Given the description of an element on the screen output the (x, y) to click on. 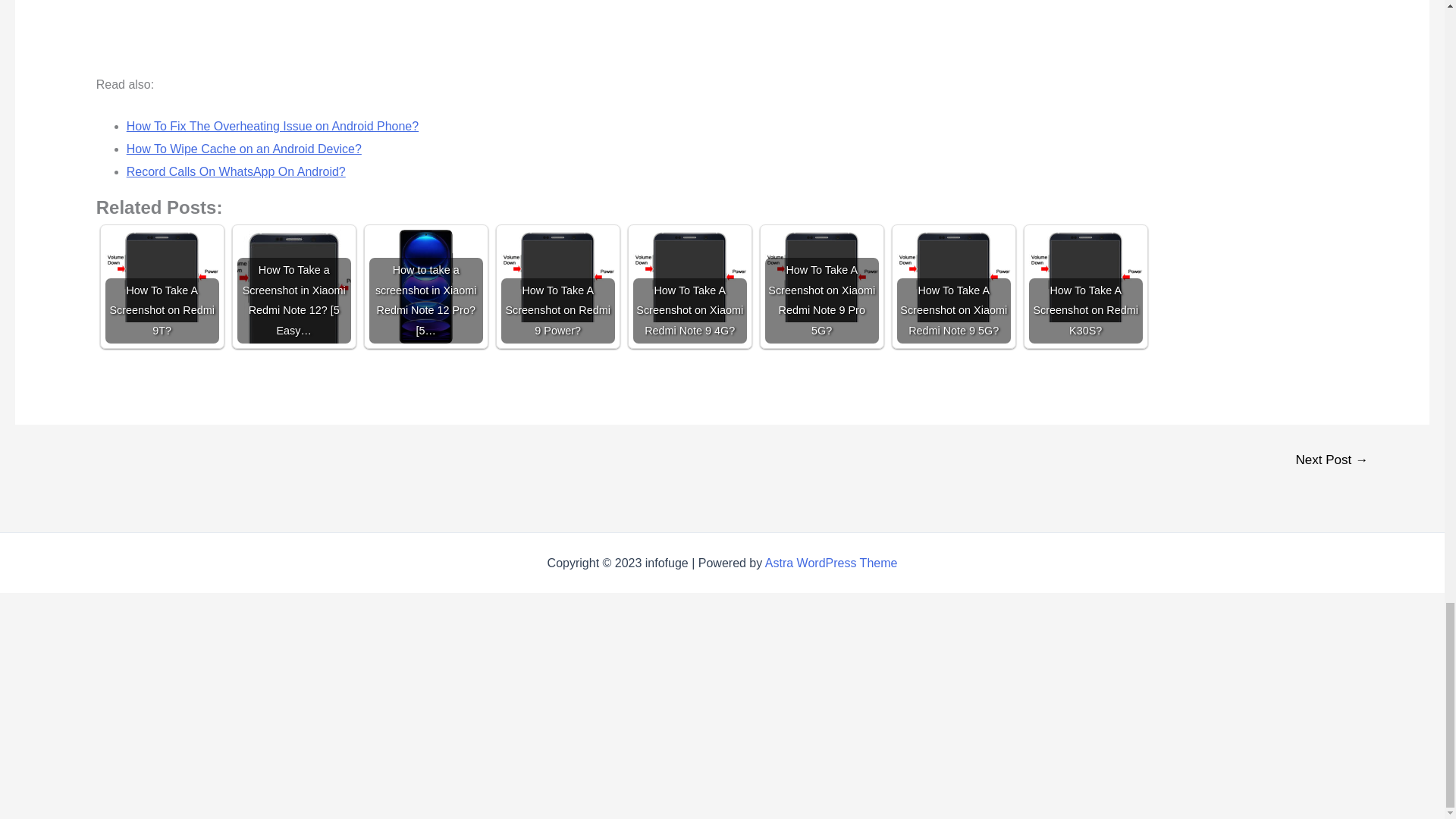
How To Take A Screenshot on Xiaomi Redmi Note 9 4G? (689, 276)
How To Take A Screenshot on Redmi 9 Power? (557, 276)
How To Take A Screenshot on Redmi 9T? (161, 276)
How To Take A Screenshot on Xiaomi Redmi Note 9 5G? (953, 276)
How To Take A Screenshot on Xiaomi Redmi Note 9 Pro 5G? (822, 276)
How To Take A Screenshot on Redmi K30S? (1085, 276)
